Given the description of an element on the screen output the (x, y) to click on. 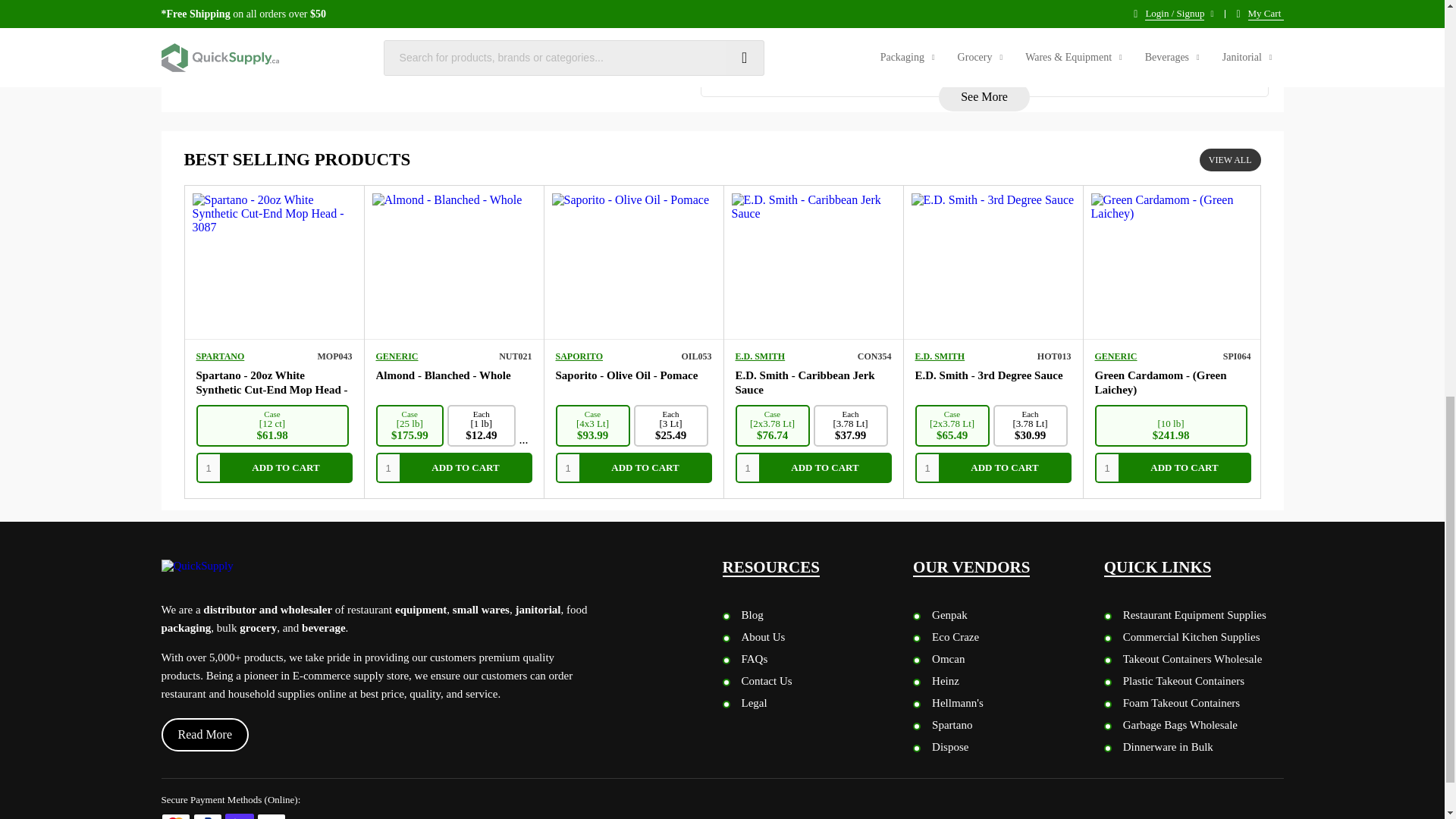
Almond - Blanched - Whole (443, 375)
E.D. Smith - Caribbean Jerk Sauce (805, 382)
Mastercard (174, 816)
PayPal (206, 816)
Saporito - Olive Oil - Pomace (625, 375)
E.D. Smith - 3rd Degree Sauce (988, 375)
Visa (270, 816)
Shop Pay (238, 816)
Spartano - 20oz White Synthetic Cut-End Mop Head - 3087 (271, 389)
